Given the description of an element on the screen output the (x, y) to click on. 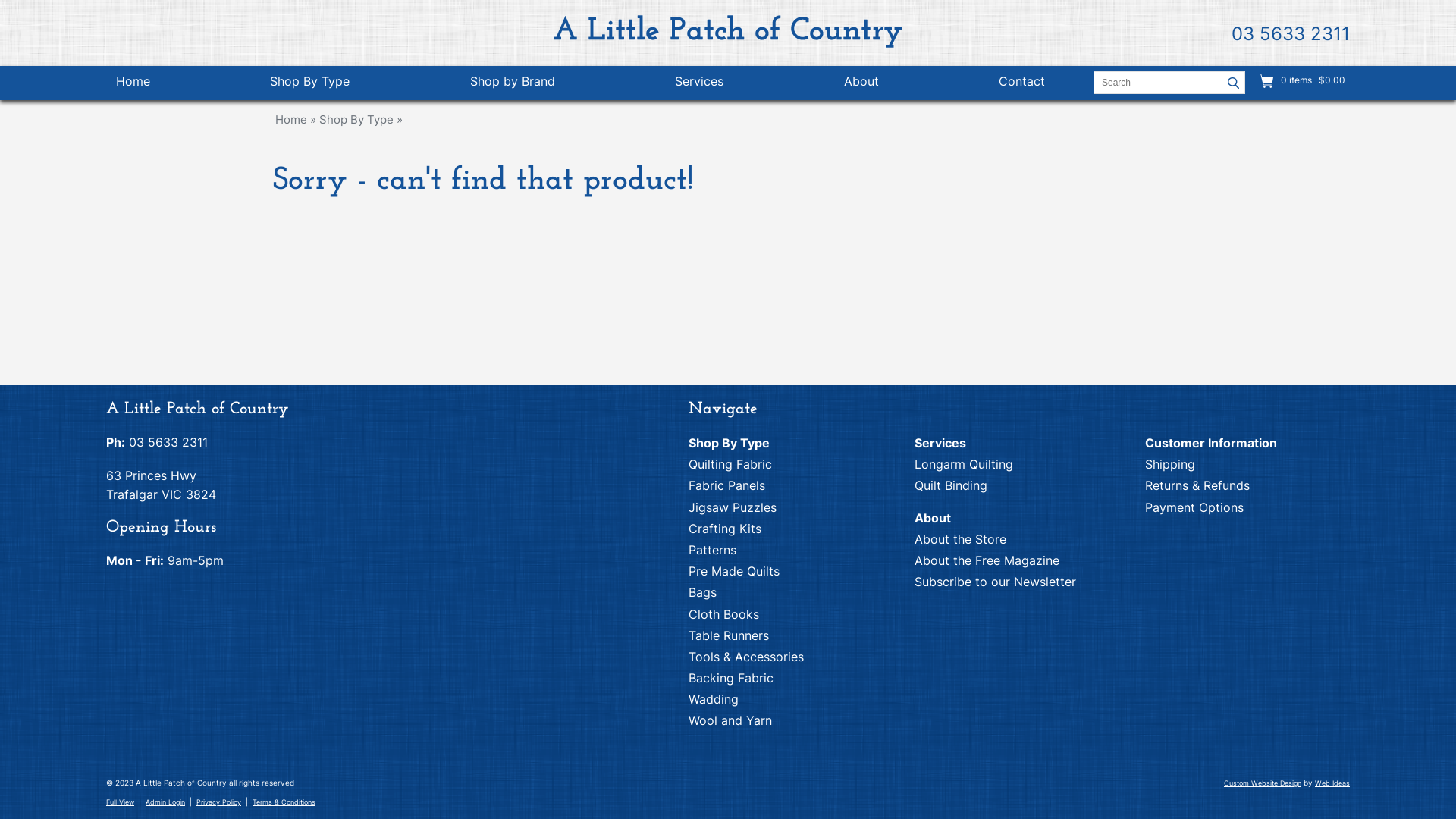
Shop by Brand Element type: text (512, 82)
Quilting Fabric Element type: text (729, 463)
03 5633 2311 Element type: text (1290, 33)
About the Free Magazine Element type: text (986, 559)
Shipping Element type: text (1170, 463)
Payment Options Element type: text (1194, 506)
Services Element type: text (940, 442)
Backing Fabric Element type: text (730, 677)
Shop By Type Element type: text (356, 119)
Services Element type: text (698, 82)
Jigsaw Puzzles Element type: text (732, 506)
Shop By Type Element type: text (309, 82)
Cloth Books Element type: text (723, 613)
Wool and Yarn Element type: text (729, 720)
Terms & Conditions Element type: text (283, 801)
Wadding Element type: text (713, 698)
Full View Element type: text (120, 801)
About the Store Element type: text (960, 538)
0 items Element type: text (1295, 79)
Returns & Refunds Element type: text (1197, 484)
Home Element type: text (132, 82)
Web Ideas Element type: text (1331, 782)
Customer Information Element type: text (1211, 442)
Table Runners Element type: text (728, 635)
Shop By Type Element type: text (728, 442)
About Element type: text (861, 82)
Longarm Quilting Element type: text (963, 463)
$0.00 Element type: text (1330, 79)
03 5633 2311 Element type: text (167, 441)
Tools & Accessories Element type: text (745, 656)
Quilt Binding Element type: text (950, 484)
Patterns Element type: text (712, 549)
Custom Website Design Element type: text (1262, 782)
Home Element type: text (291, 119)
Bags Element type: text (702, 591)
Subscribe to our Newsletter Element type: text (995, 581)
Privacy Policy Element type: text (218, 801)
Contact Element type: text (1021, 82)
Crafting Kits Element type: text (724, 528)
Fabric Panels Element type: text (726, 484)
Pre Made Quilts Element type: text (733, 570)
About Element type: text (932, 517)
Admin Login Element type: text (165, 801)
